Given the description of an element on the screen output the (x, y) to click on. 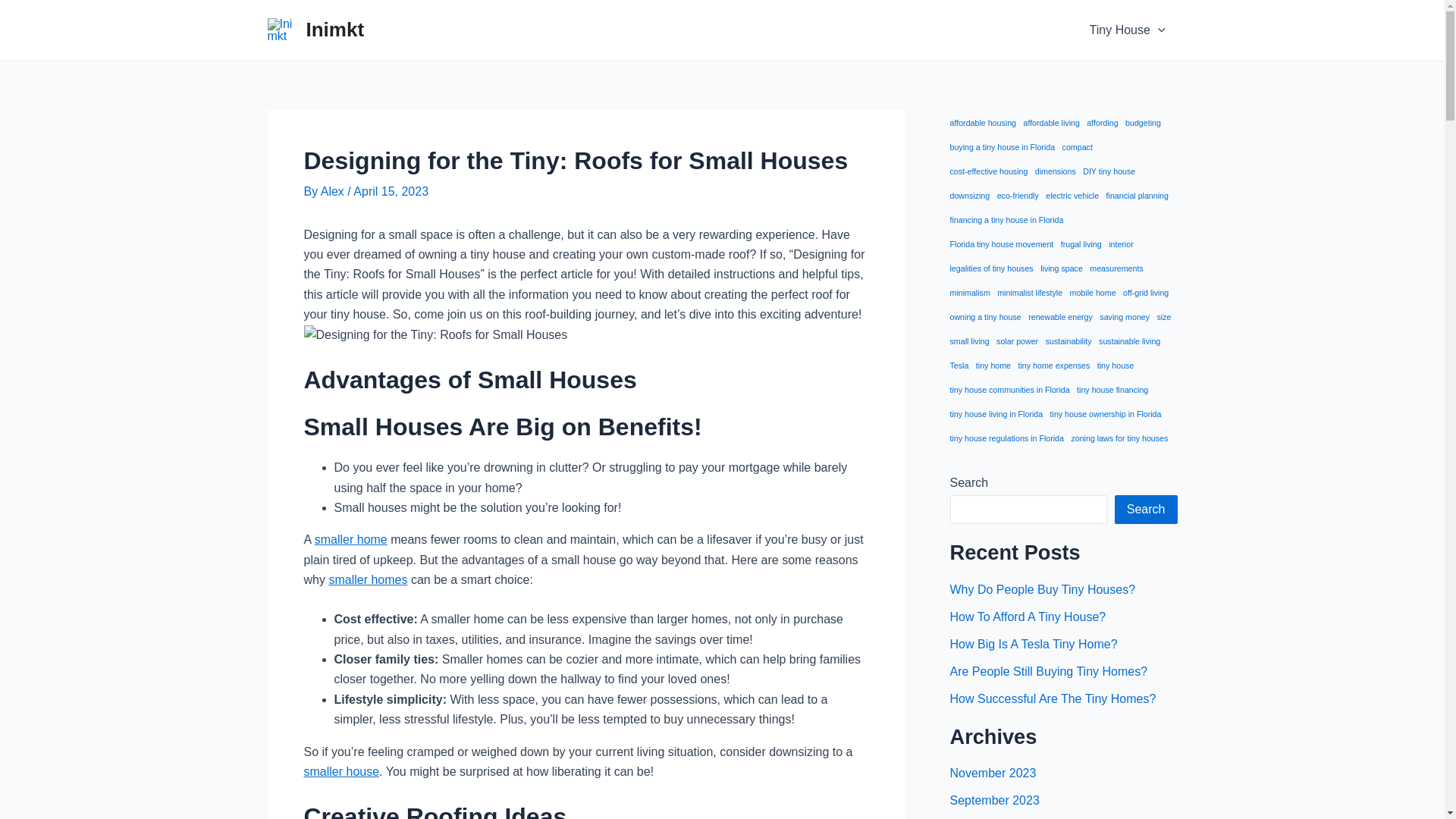
affordable living (1050, 123)
budgeting (1142, 123)
smaller house (340, 771)
Downsizing to Dream Tiny Homes on a Budget (350, 539)
financial planning (1137, 195)
downsizing (969, 195)
buying a tiny house in Florida (1001, 147)
Inimkt (335, 29)
compact (1077, 147)
affording (1102, 123)
affordable housing (982, 123)
Dream Big in Tiny Spaces: Clever Tiny House Design Plans (368, 579)
cost-effective housing (988, 171)
electric vehicle (1072, 195)
financing a tiny house in Florida (1005, 220)
